Given the description of an element on the screen output the (x, y) to click on. 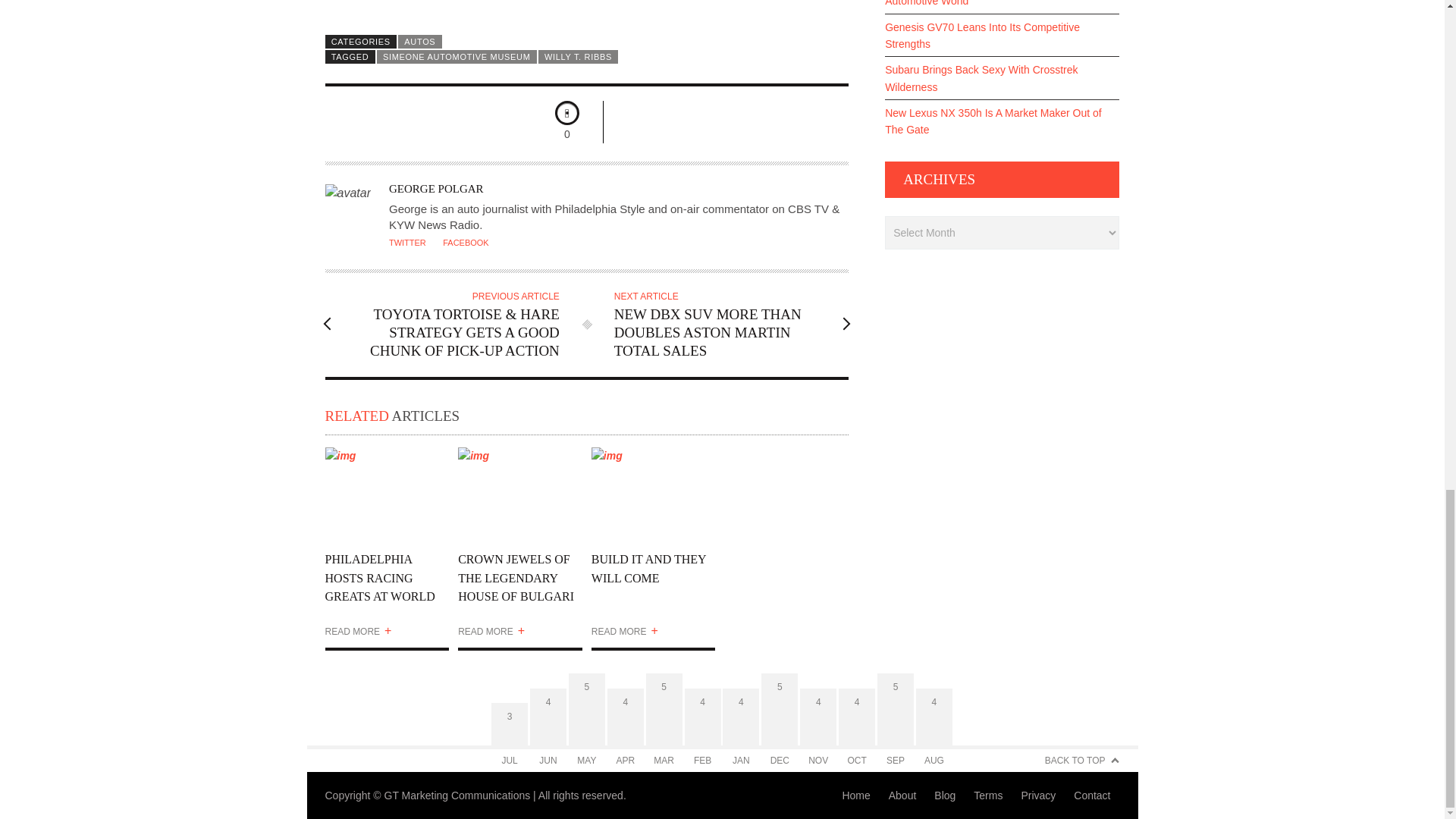
Posts by George Polgar (435, 188)
View all posts tagged Simeone Automotive Museum (457, 56)
View all posts in autos (419, 41)
View all posts tagged Willy T. Ribbs (577, 56)
